Given the description of an element on the screen output the (x, y) to click on. 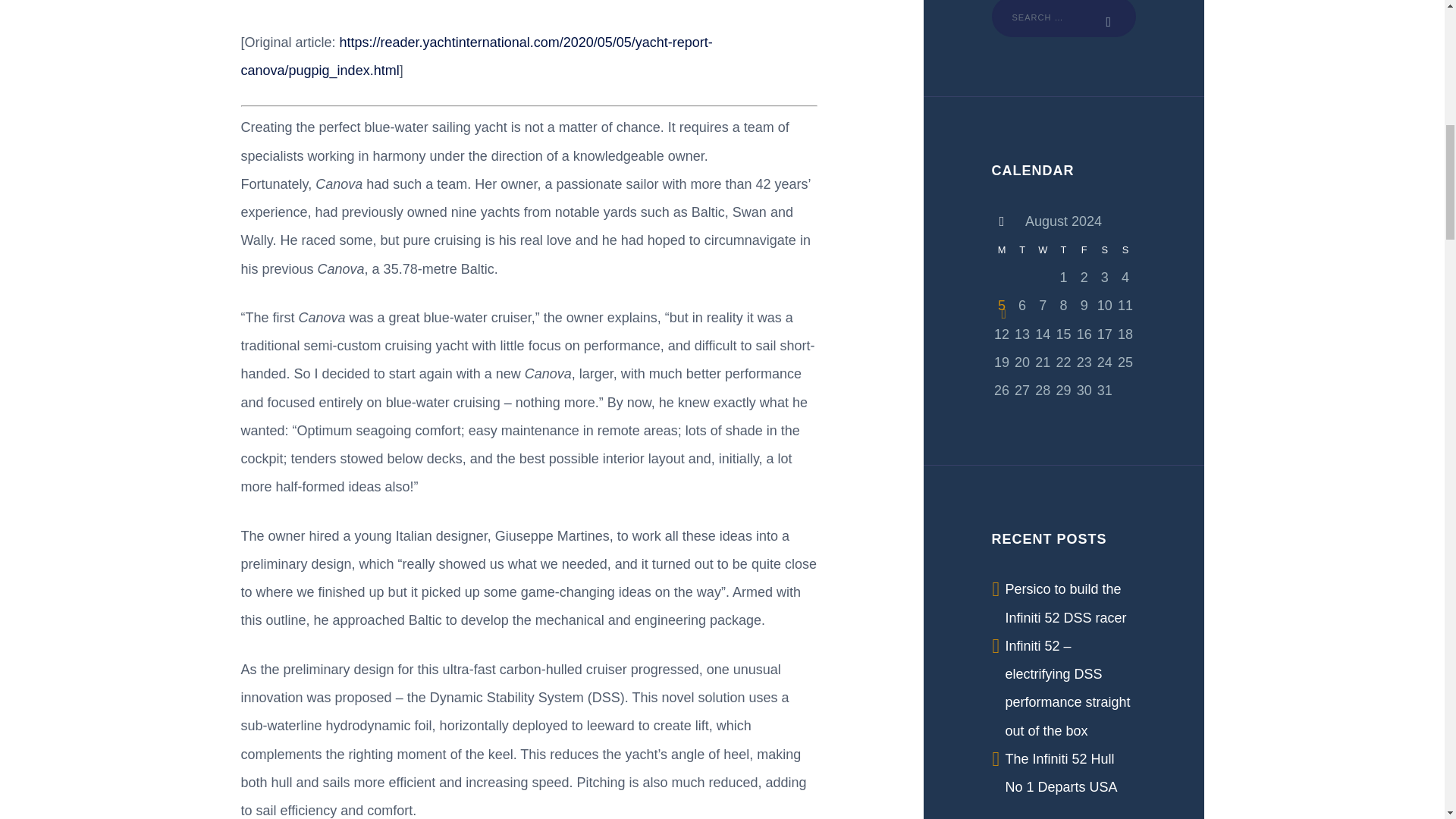
The Infiniti 52 Hull No 1 Departs USA (1062, 772)
Search for: (1063, 18)
Persico to build the Infiniti 52 DSS racer (1066, 602)
